Given the description of an element on the screen output the (x, y) to click on. 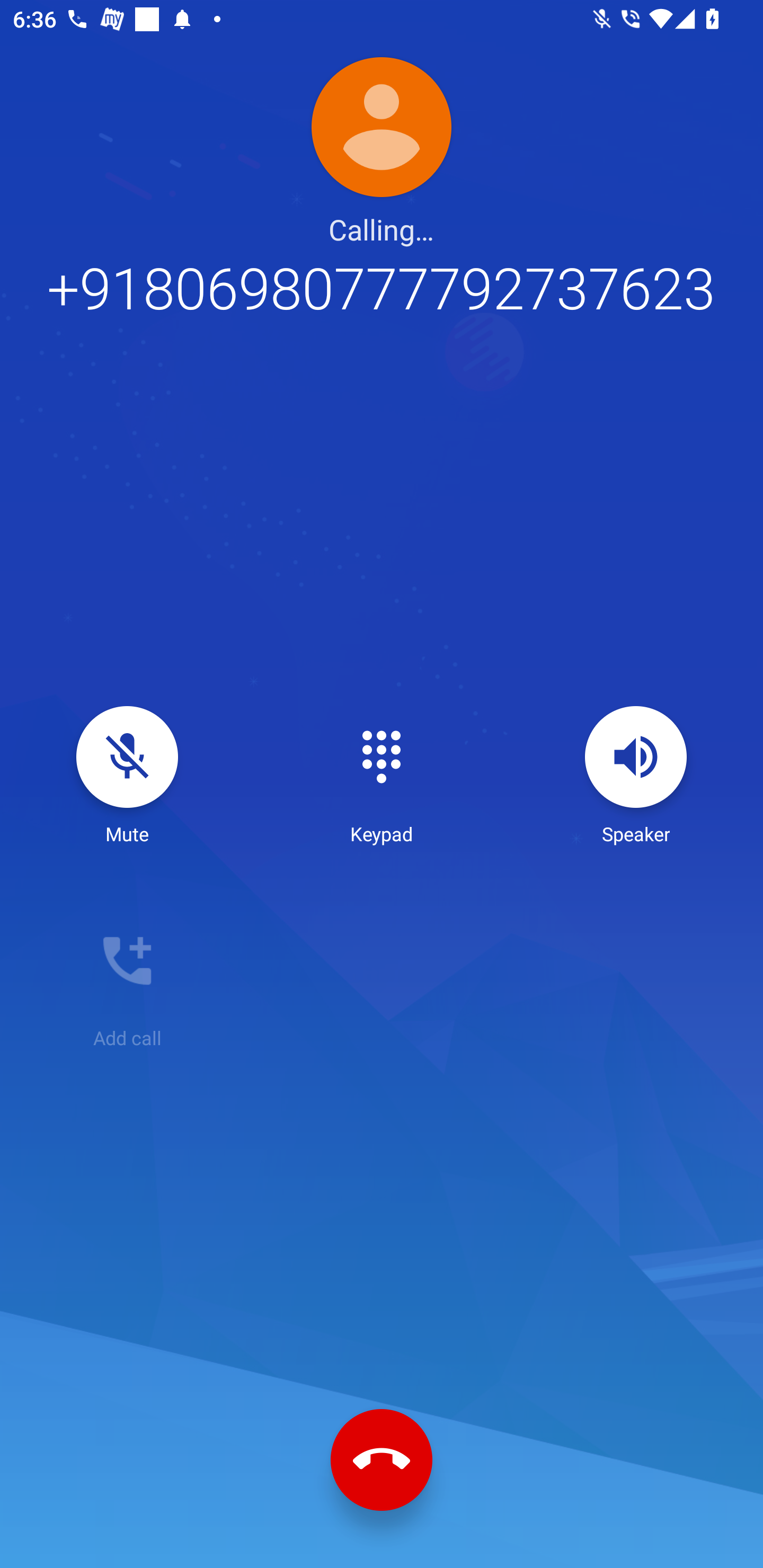
Muted Mute (127, 775)
Keypad (381, 775)
Speaker, is on Speaker (635, 775)
Add call (127, 979)
End call (381, 1460)
